Given the description of an element on the screen output the (x, y) to click on. 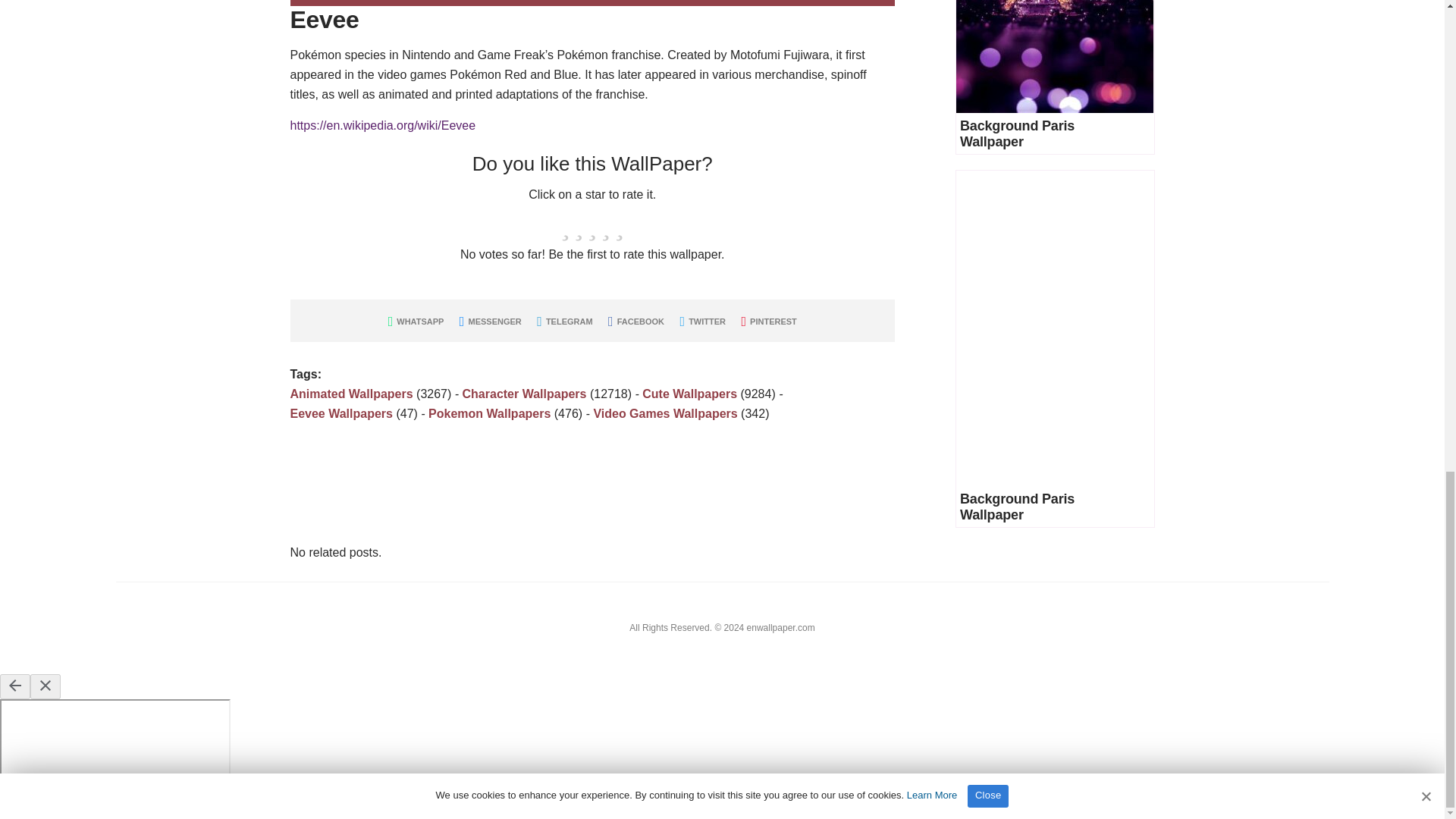
Eevee Wallpapers (340, 413)
Animated Wallpapers (350, 393)
Character Wallpapers (524, 393)
FACEBOOK (635, 320)
Animated Wallpapers (350, 393)
PINTEREST (768, 320)
Pokemon Wallpapers (489, 413)
Video Games Wallpapers (664, 413)
Eevee Wallpapers (340, 413)
Background Paris Wallpaper (1016, 133)
TWITTER (702, 320)
WHATSAPP (416, 320)
Character Wallpapers (524, 393)
